Given the description of an element on the screen output the (x, y) to click on. 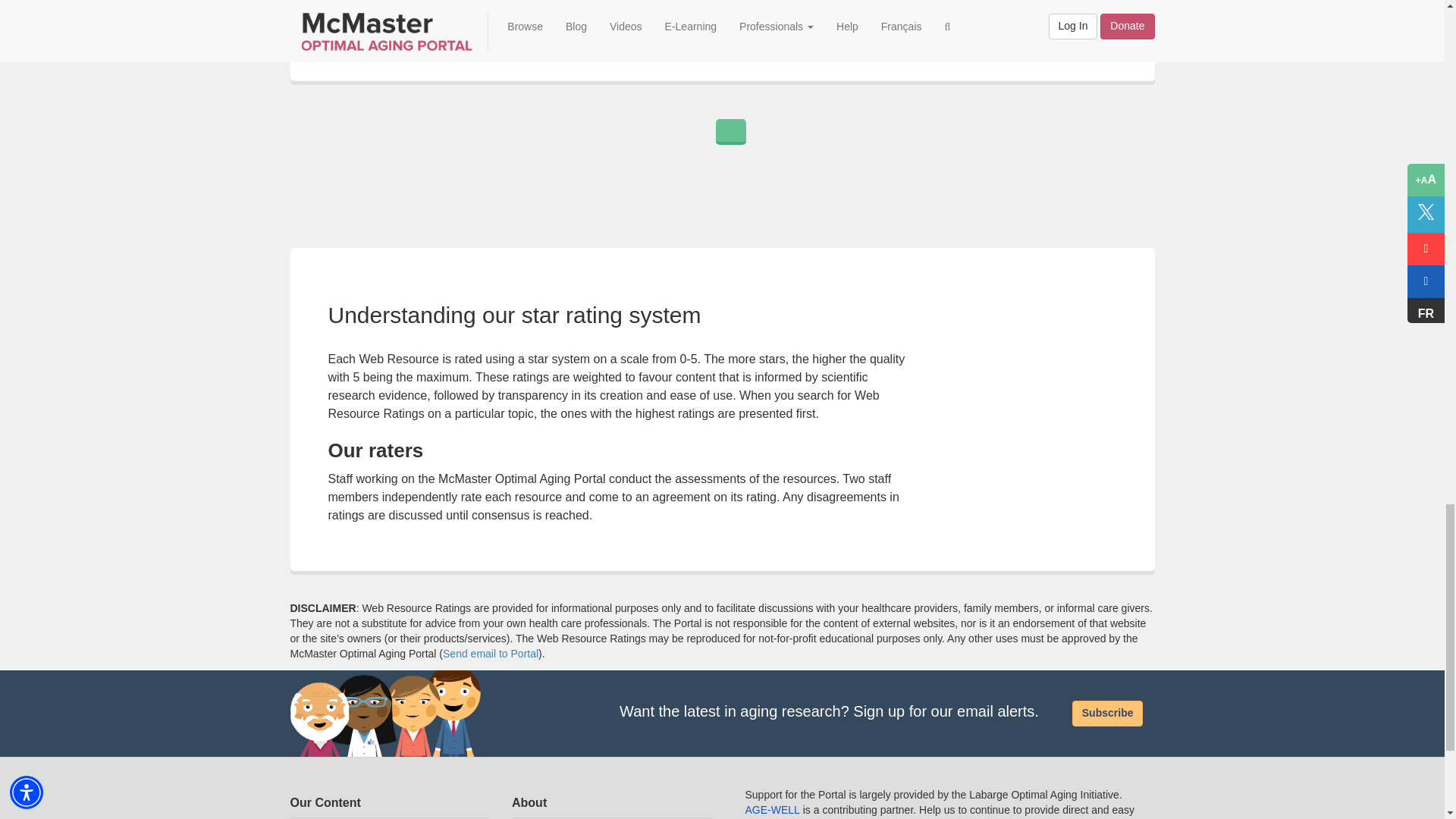
Send email to Portal (490, 653)
Send email (490, 653)
Subscribe (1106, 713)
